Given the description of an element on the screen output the (x, y) to click on. 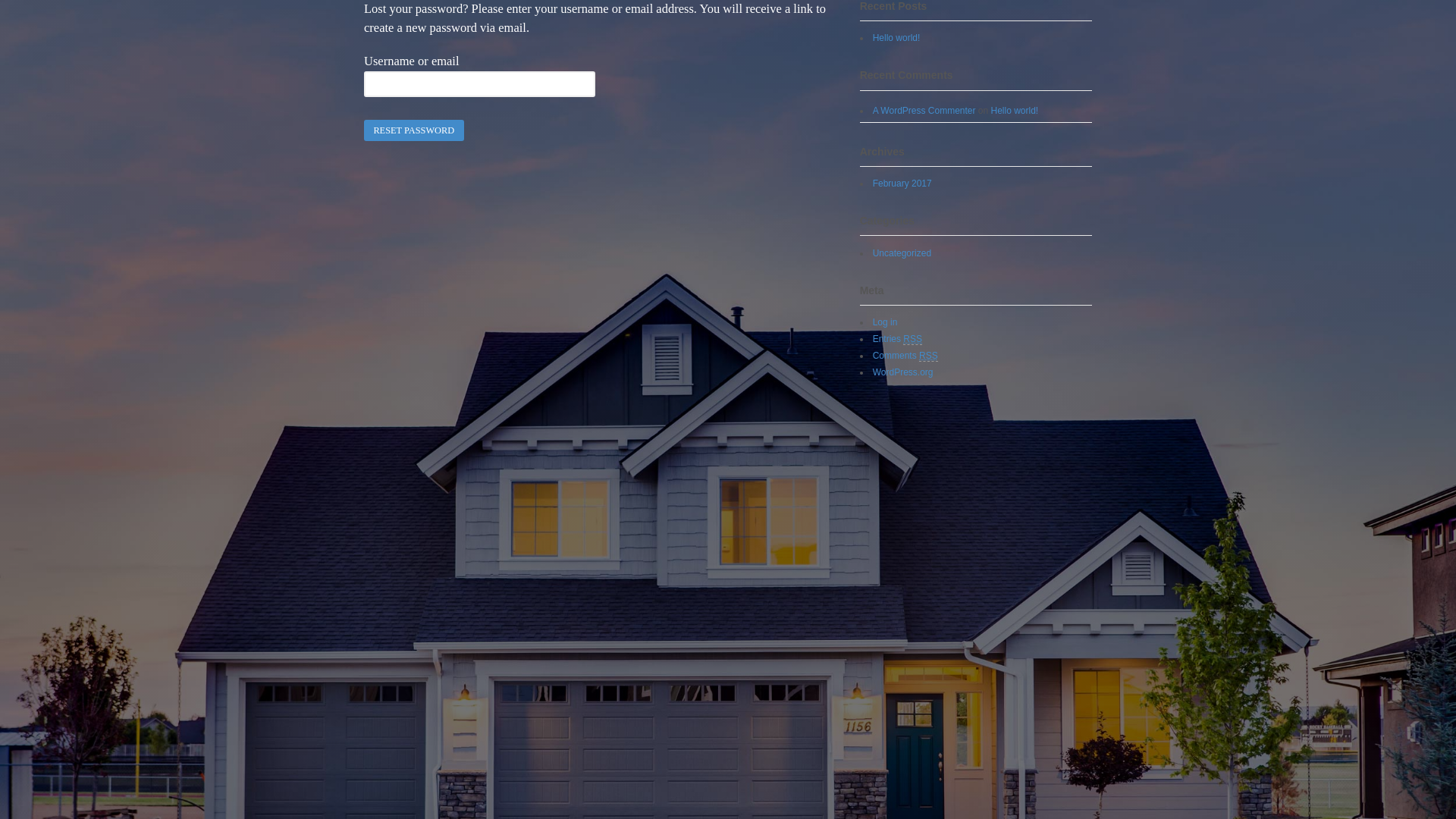
February 2017 Element type: text (901, 183)
A WordPress Commenter Element type: text (923, 110)
Log in Element type: text (884, 321)
Comments RSS Element type: text (905, 355)
Reset Password Element type: text (414, 130)
WordPress.org Element type: text (902, 372)
Entries RSS Element type: text (897, 339)
Hello world! Element type: text (1014, 110)
Hello world! Element type: text (896, 37)
Uncategorized Element type: text (901, 252)
